Given the description of an element on the screen output the (x, y) to click on. 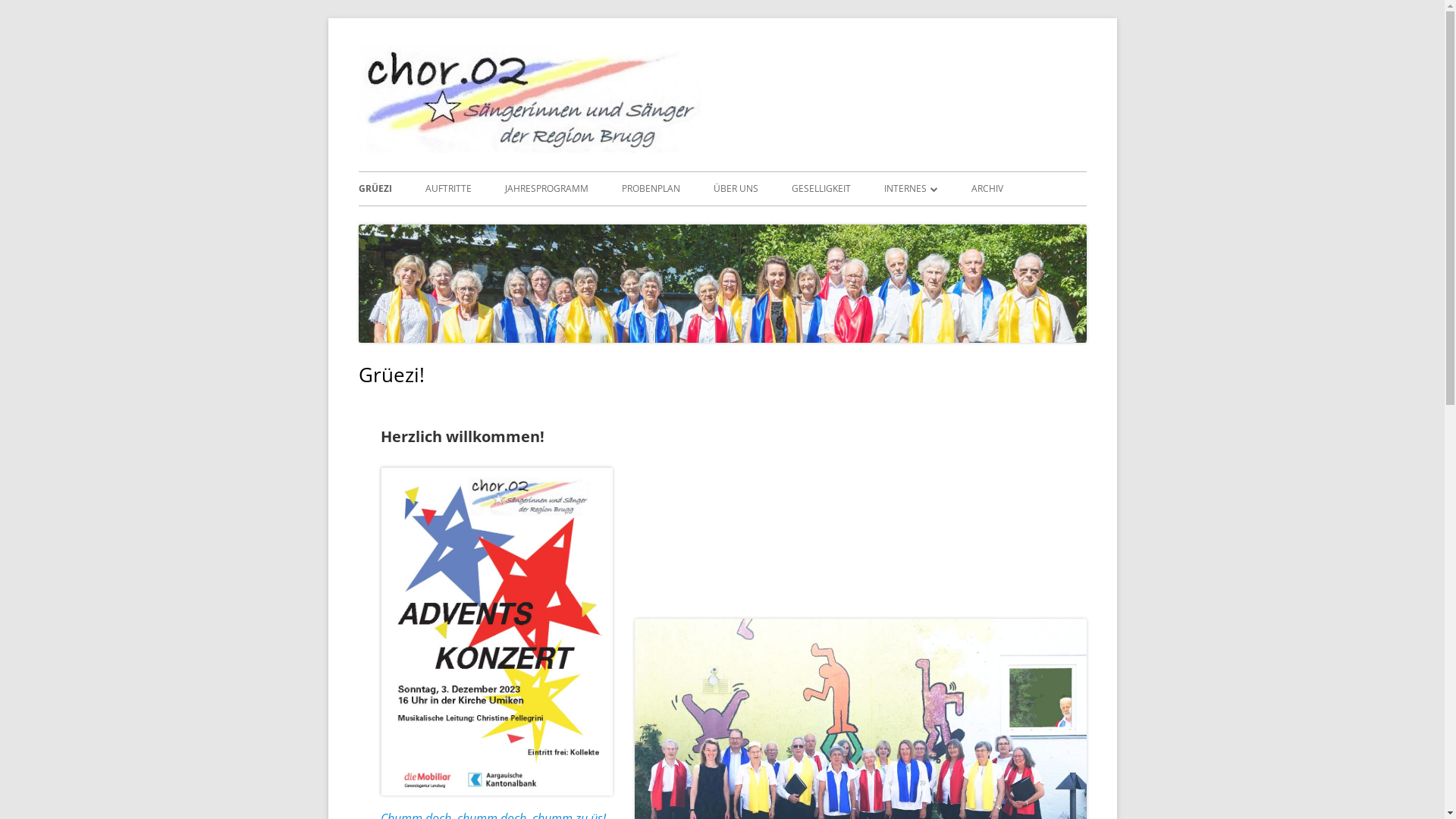
AUFTRITTE Element type: text (447, 188)
chor02 Element type: text (750, 63)
ARCHIV Element type: text (986, 188)
DIRIGENTIN Element type: text (970, 220)
JAHRESPROGRAMM Element type: text (546, 188)
Springe zum Inhalt Element type: text (0, 18)
PROBENPLAN Element type: text (650, 188)
INTERNES Element type: text (911, 188)
GESELLIGKEIT Element type: text (820, 188)
